Given the description of an element on the screen output the (x, y) to click on. 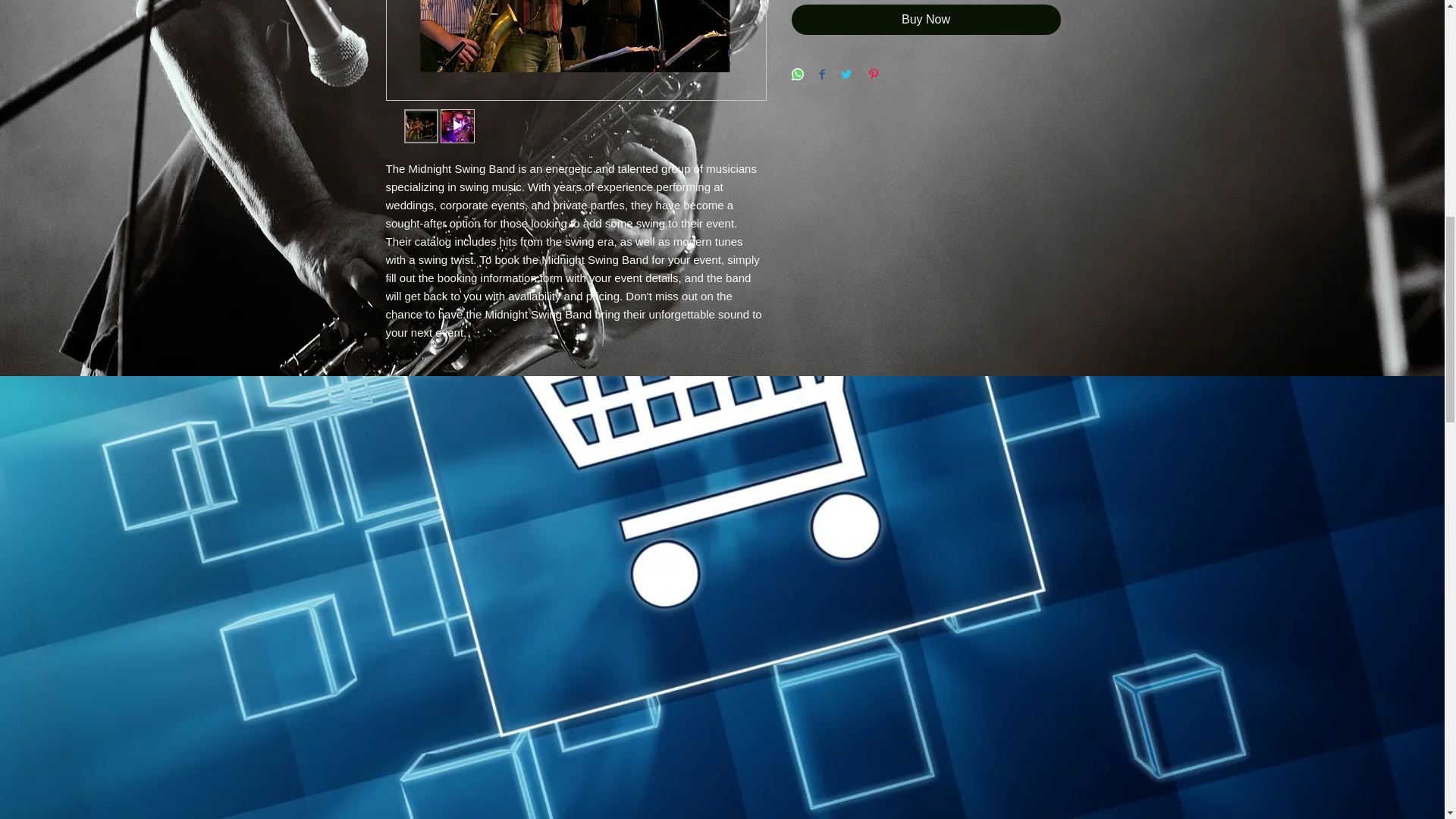
Buy Now (926, 19)
